Given the description of an element on the screen output the (x, y) to click on. 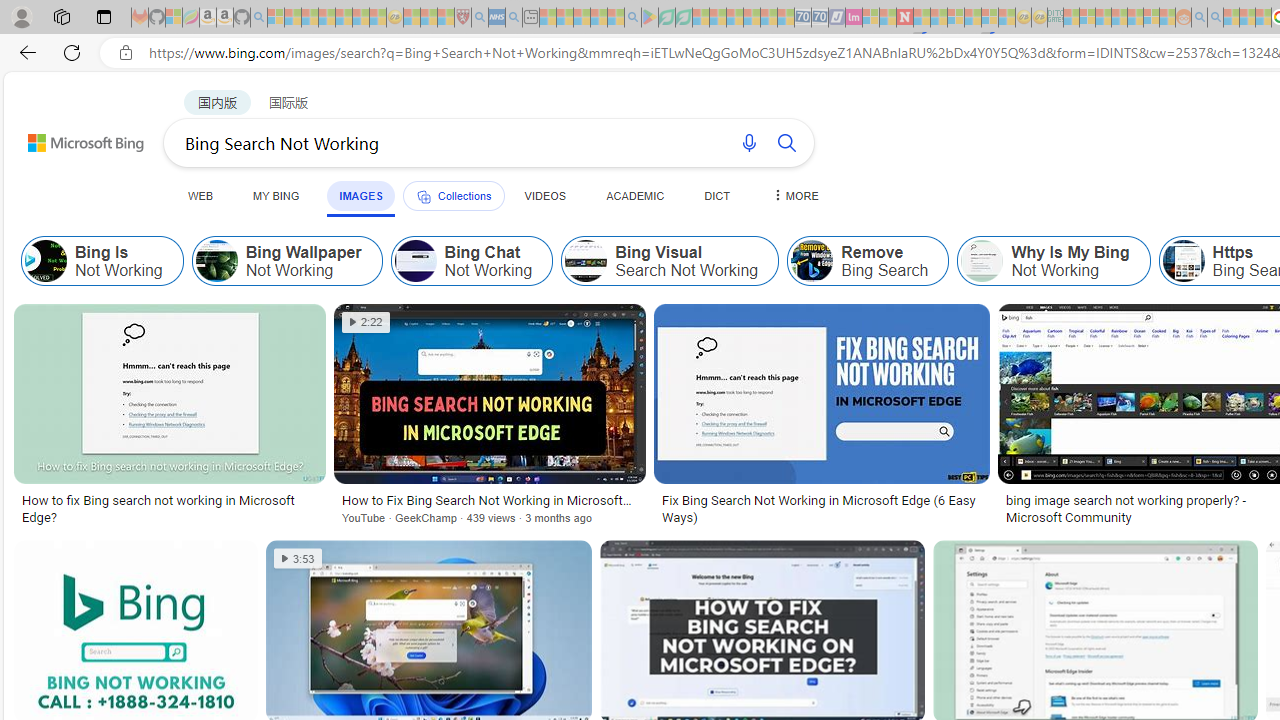
MORE (793, 195)
utah sues federal government - Search - Sleeping (513, 17)
Bing Wallpaper Not Working (216, 260)
Why Is My Bing Not Working (1053, 260)
Search using voice (748, 142)
